Given the description of an element on the screen output the (x, y) to click on. 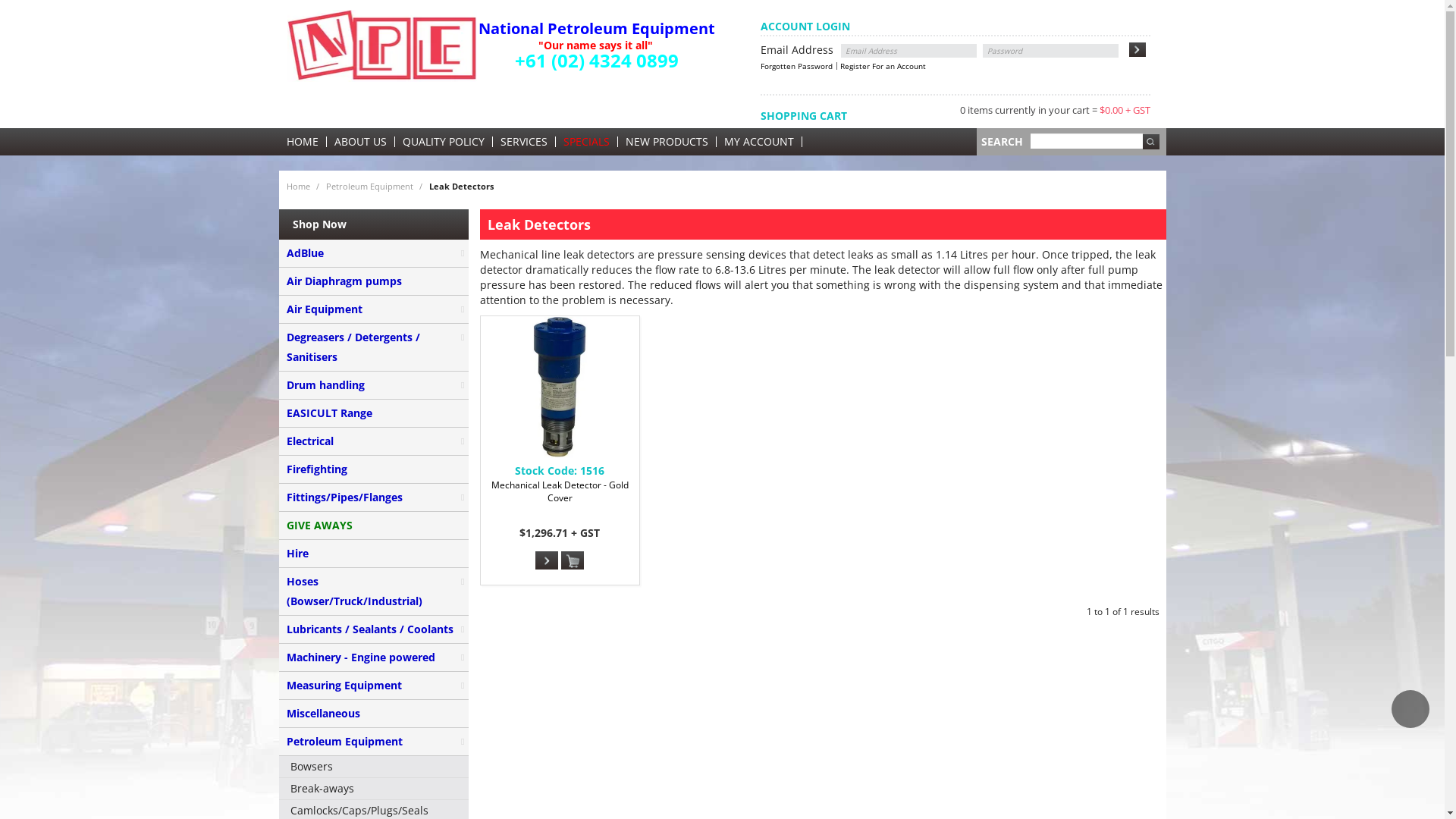
Search Element type: text (1150, 141)
Fittings/Pipes/Flanges Element type: text (373, 497)
Drum handling Element type: text (373, 385)
Forgotten Password Element type: text (798, 65)
Petroleum Equipment Element type: text (369, 185)
Measuring Equipment Element type: text (373, 685)
SERVICES Element type: text (523, 141)
Break-aways Element type: text (373, 789)
Mechanical Leak Detector - Gold Cover Element type: hover (558, 386)
MY ACCOUNT Element type: text (758, 141)
SPECIALS Element type: text (585, 141)
Lubricants / Sealants / Coolants Element type: text (373, 629)
MORE INFO Element type: text (546, 560)
$0.00 + GST Element type: text (1124, 109)
ABOUT US Element type: text (359, 141)
Hire Element type: text (373, 553)
Bowsers Element type: text (373, 767)
EASICULT Range Element type: text (373, 413)
Firefighting Element type: text (373, 469)
Miscellaneous Element type: text (373, 713)
Air Equipment Element type: text (373, 309)
HOME Element type: text (302, 141)
Petroleum Equipment Element type: text (373, 742)
0 items currently in your cart = Element type: text (1029, 109)
Home Element type: text (298, 185)
Register For an Account Element type: text (882, 65)
ADD TO CART Element type: text (572, 560)
QUALITY POLICY Element type: text (442, 141)
Machinery - Engine powered Element type: text (373, 657)
Electrical Element type: text (373, 441)
Air Diaphragm pumps Element type: text (373, 281)
Degreasers / Detergents / Sanitisers Element type: text (373, 347)
AdBlue Element type: text (373, 253)
GIVE AWAYS Element type: text (373, 525)
NEW PRODUCTS Element type: text (665, 141)
Hoses (Bowser/Truck/Industrial) Element type: text (373, 591)
Mechanical Leak Detector - Gold Cover Element type: text (559, 500)
Login Element type: text (1137, 49)
